Given the description of an element on the screen output the (x, y) to click on. 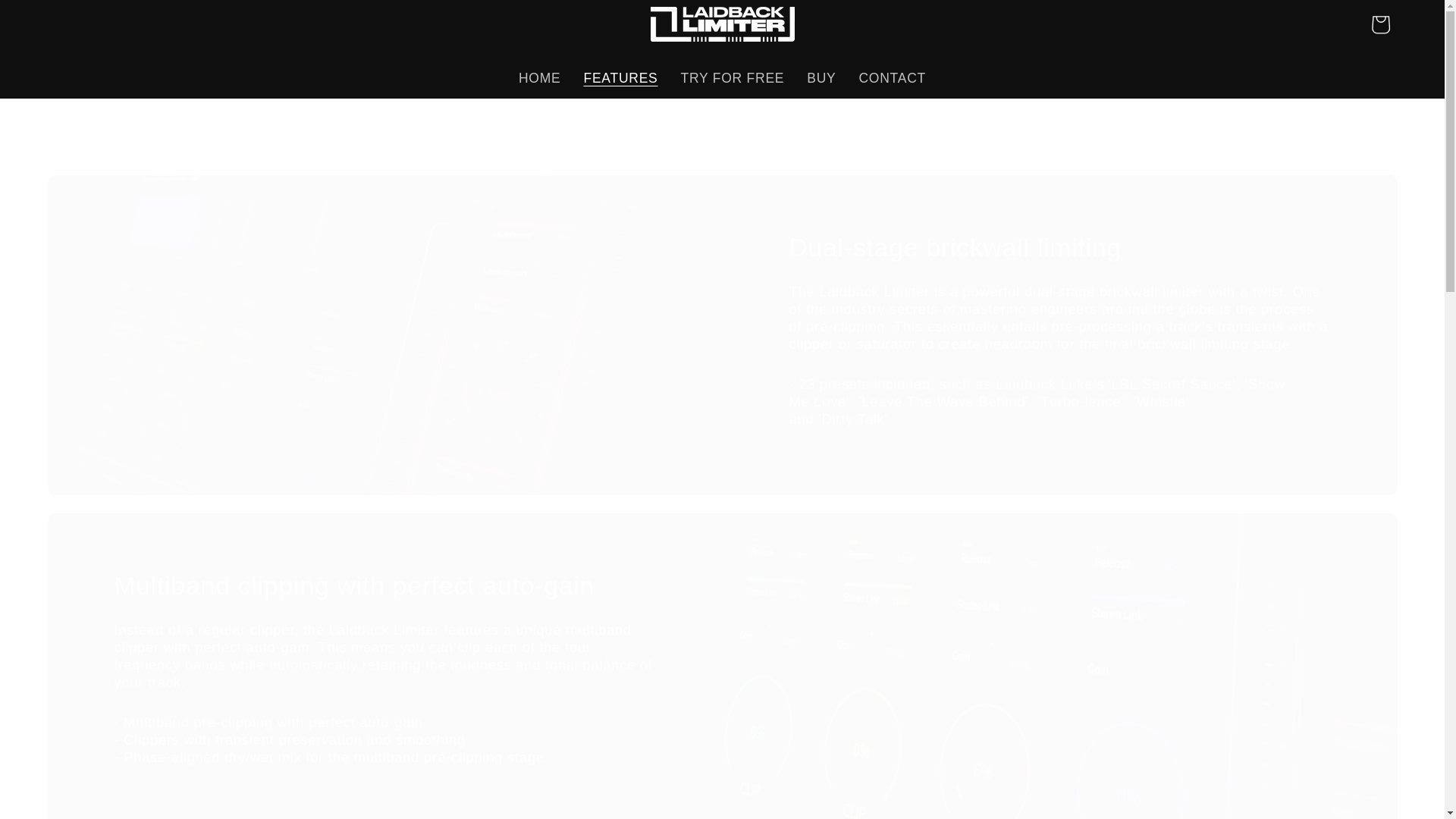
Skip to content (56, 20)
CONTACT (892, 78)
HOME (539, 78)
BUY (820, 78)
FEATURES (620, 78)
TRY FOR FREE (732, 78)
Cart (1379, 24)
